Given the description of an element on the screen output the (x, y) to click on. 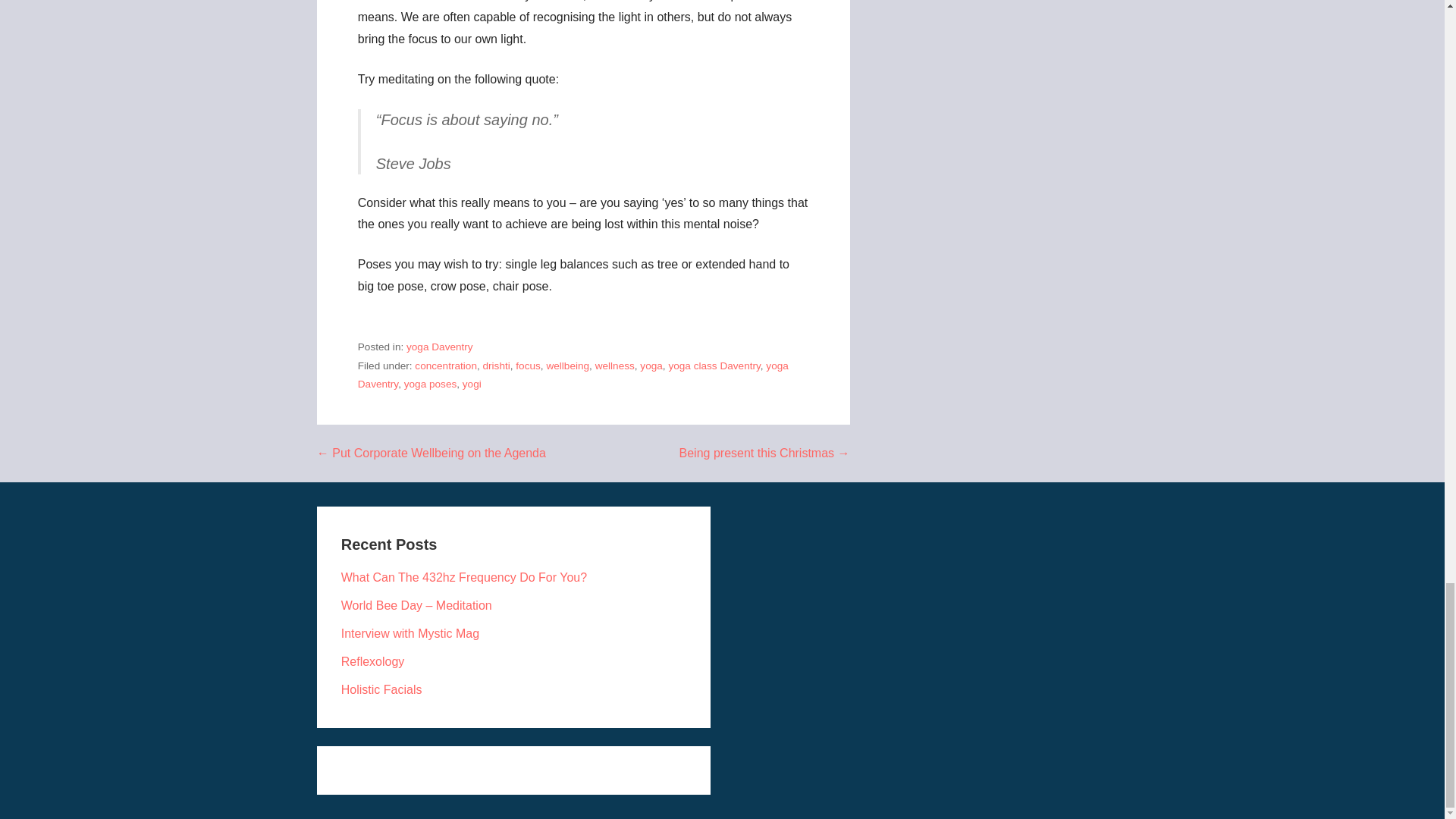
yoga poses (430, 383)
drishti (497, 365)
yoga (651, 365)
yoga Daventry (573, 374)
concentration (445, 365)
What Can The 432hz Frequency Do For You? (463, 576)
yoga Daventry (439, 346)
wellness (614, 365)
yoga class Daventry (714, 365)
yogi (472, 383)
